Given the description of an element on the screen output the (x, y) to click on. 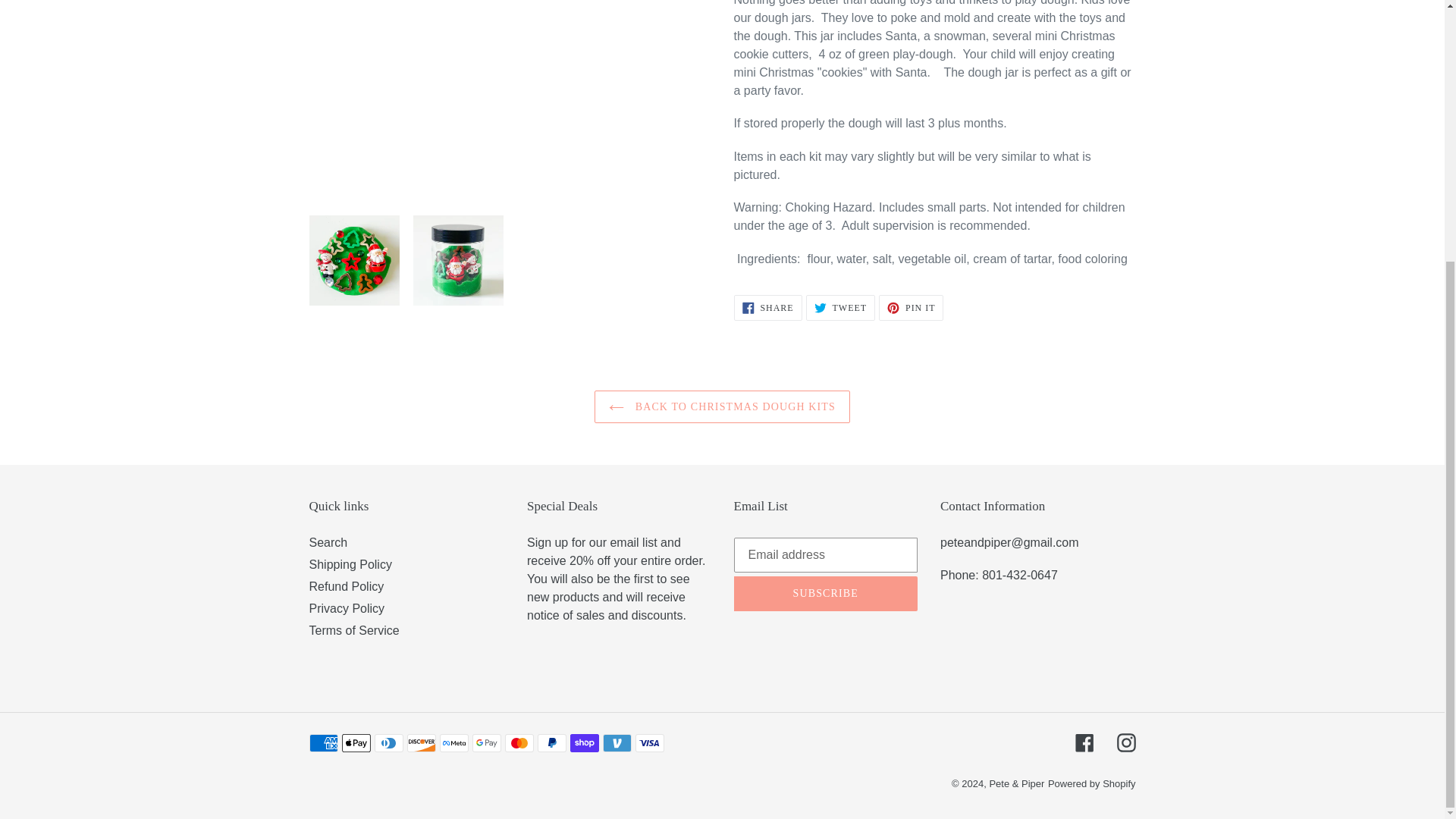
Privacy Policy (346, 608)
Facebook (1084, 742)
Refund Policy (911, 307)
Shipping Policy (346, 585)
Search (349, 563)
BACK TO CHRISTMAS DOUGH KITS (327, 542)
Terms of Service (722, 406)
SUBSCRIBE (353, 630)
